Given the description of an element on the screen output the (x, y) to click on. 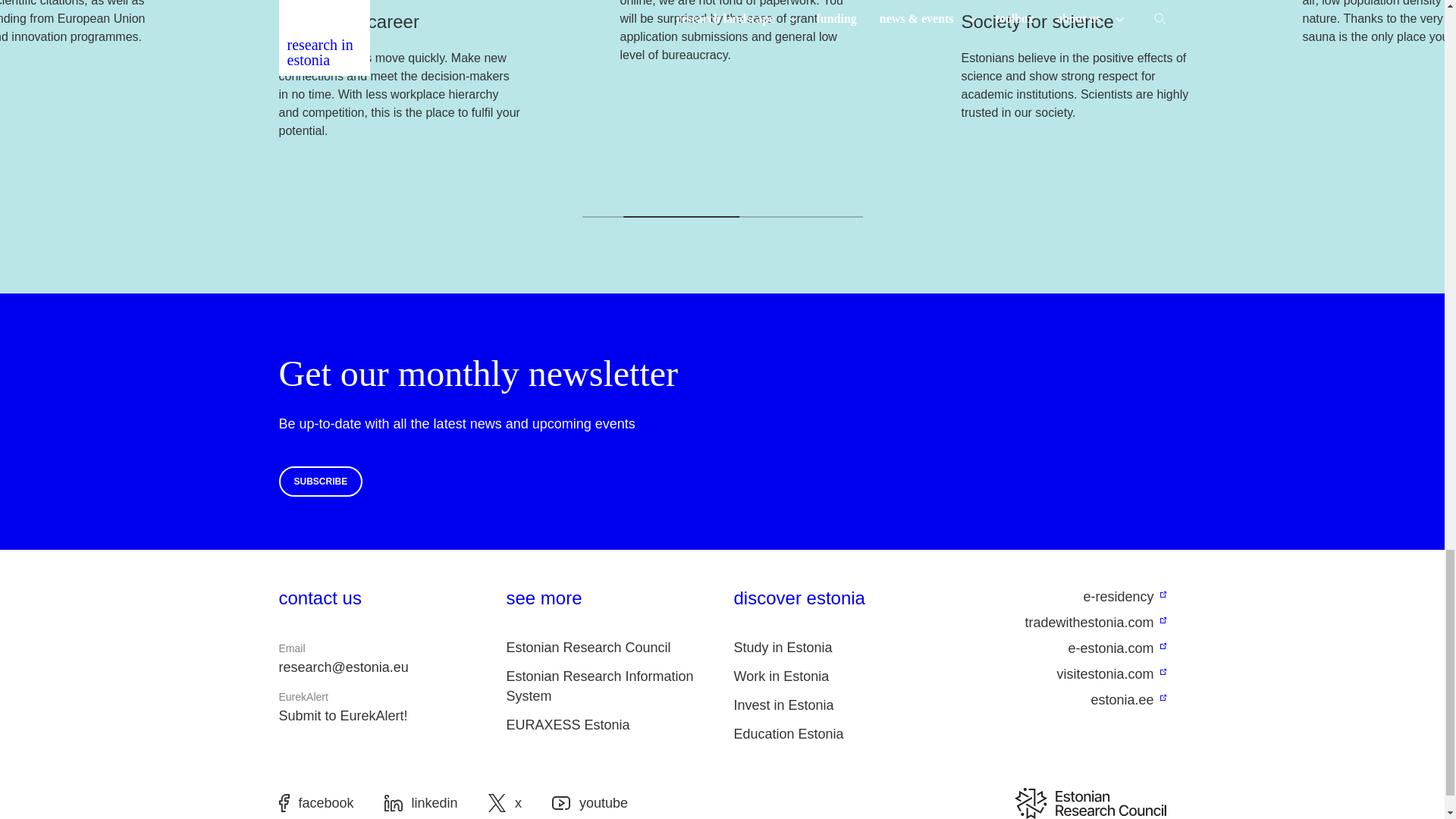
Work in Estonia (781, 676)
Facebook (316, 802)
x (504, 802)
LinkedIn (421, 802)
Estonian Research Information System (600, 686)
Education Estonia (788, 734)
EURAXESS Estonia (568, 724)
SUBSCRIBE (320, 481)
e-residency (1063, 597)
Study in Estonia (782, 647)
